Given the description of an element on the screen output the (x, y) to click on. 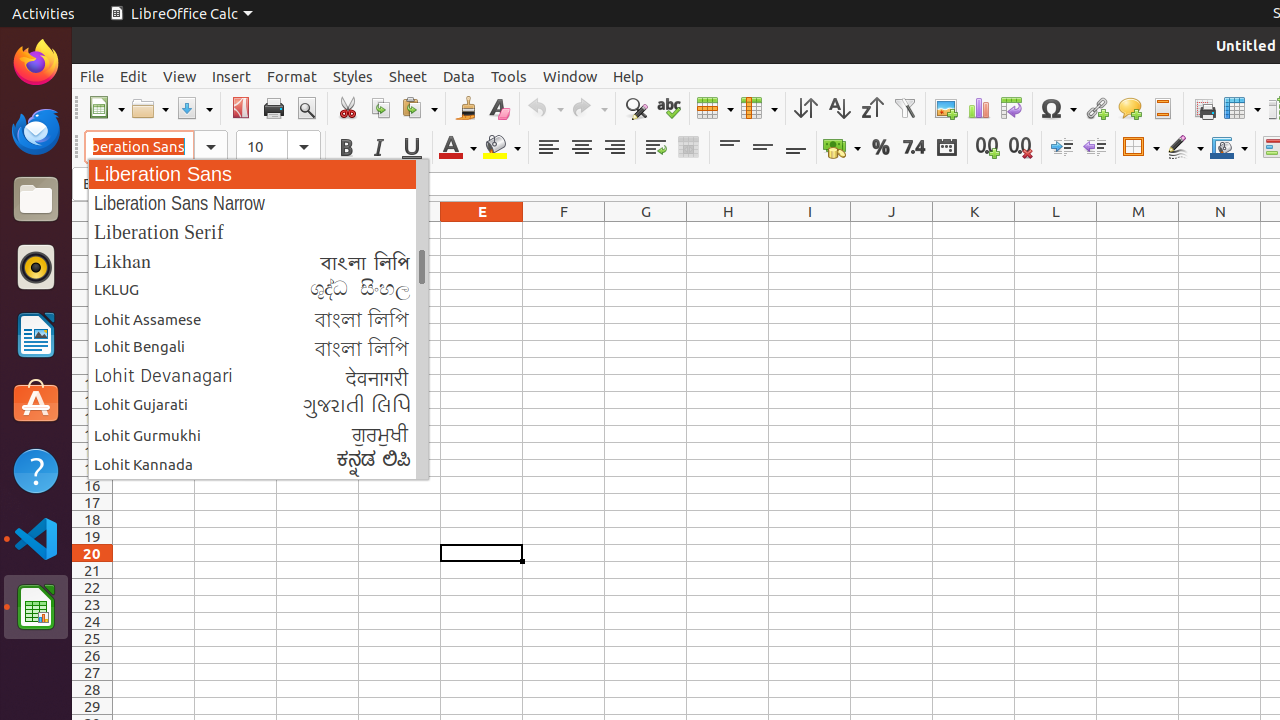
Liberation Sans Narrow Element type: list-item (258, 202)
Add Decimal Place Element type: push-button (987, 147)
Clone Element type: push-button (465, 108)
Tools Element type: menu (509, 76)
